Given the description of an element on the screen output the (x, y) to click on. 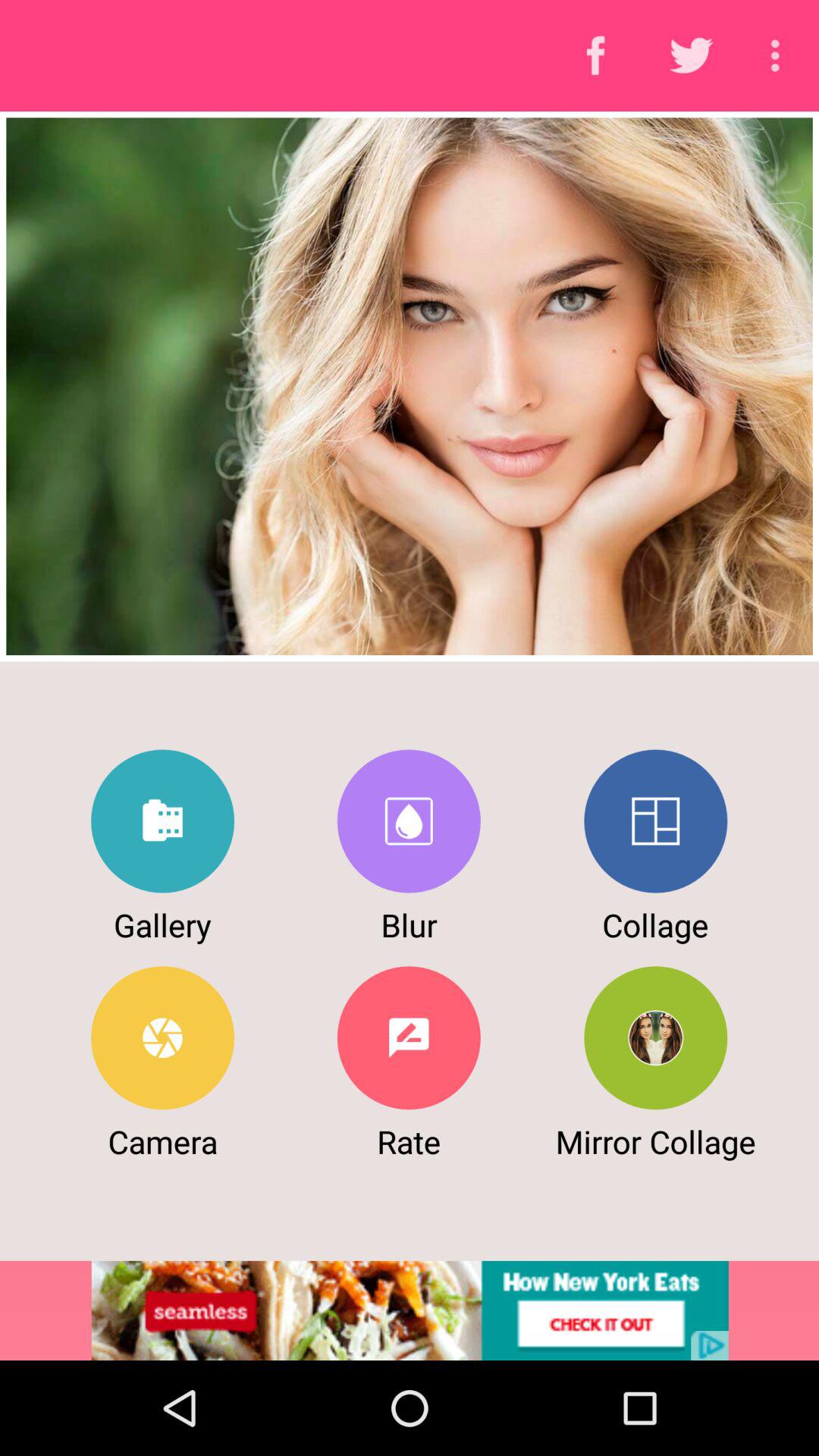
gallery (162, 820)
